Given the description of an element on the screen output the (x, y) to click on. 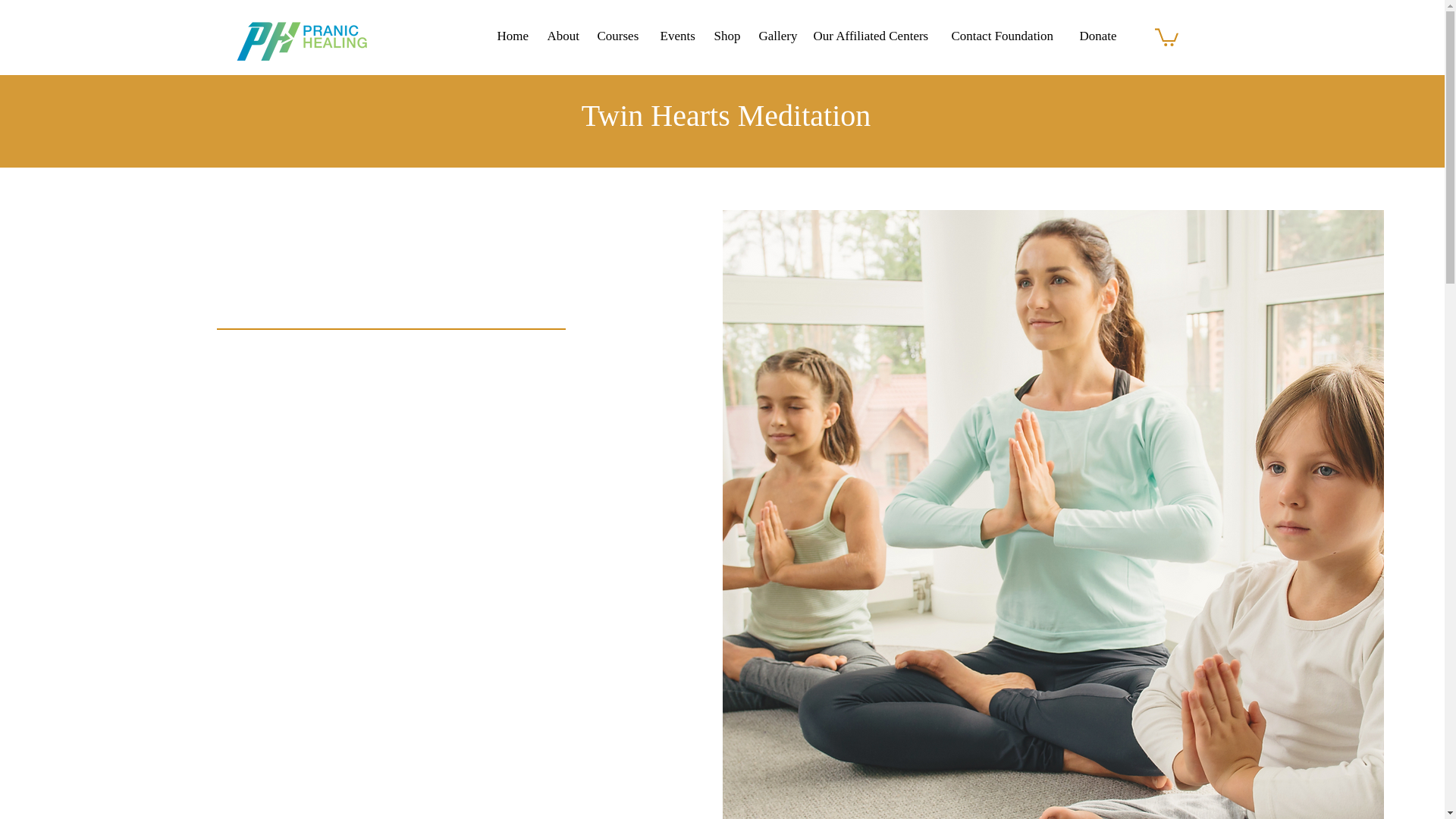
Home (514, 36)
Shop (728, 36)
Gallery (778, 36)
Contact Foundation (1007, 36)
Donate (1099, 36)
Our Affiliated Centers (874, 36)
